Given the description of an element on the screen output the (x, y) to click on. 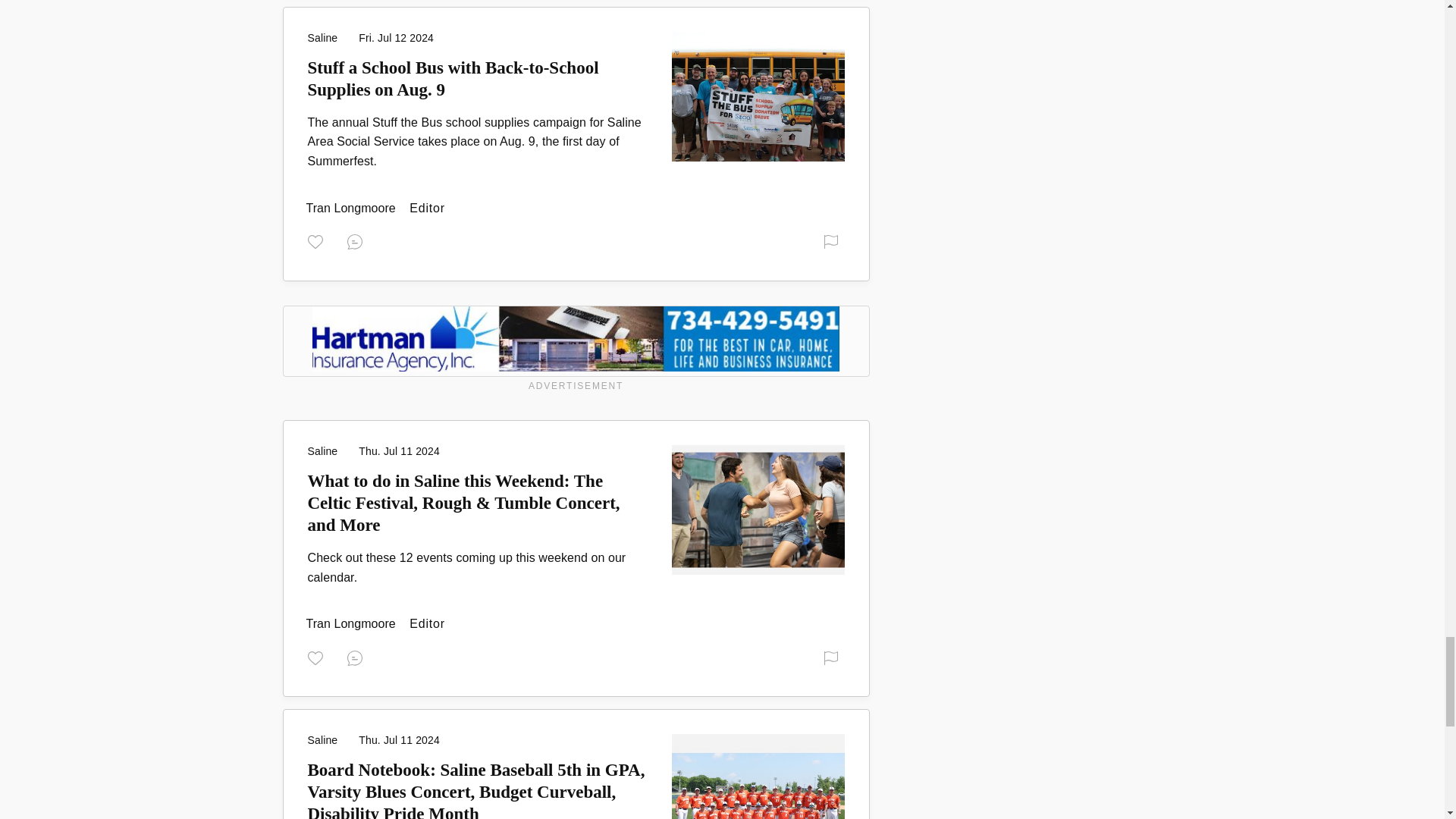
ADVERTISEMENT (575, 350)
